Given the description of an element on the screen output the (x, y) to click on. 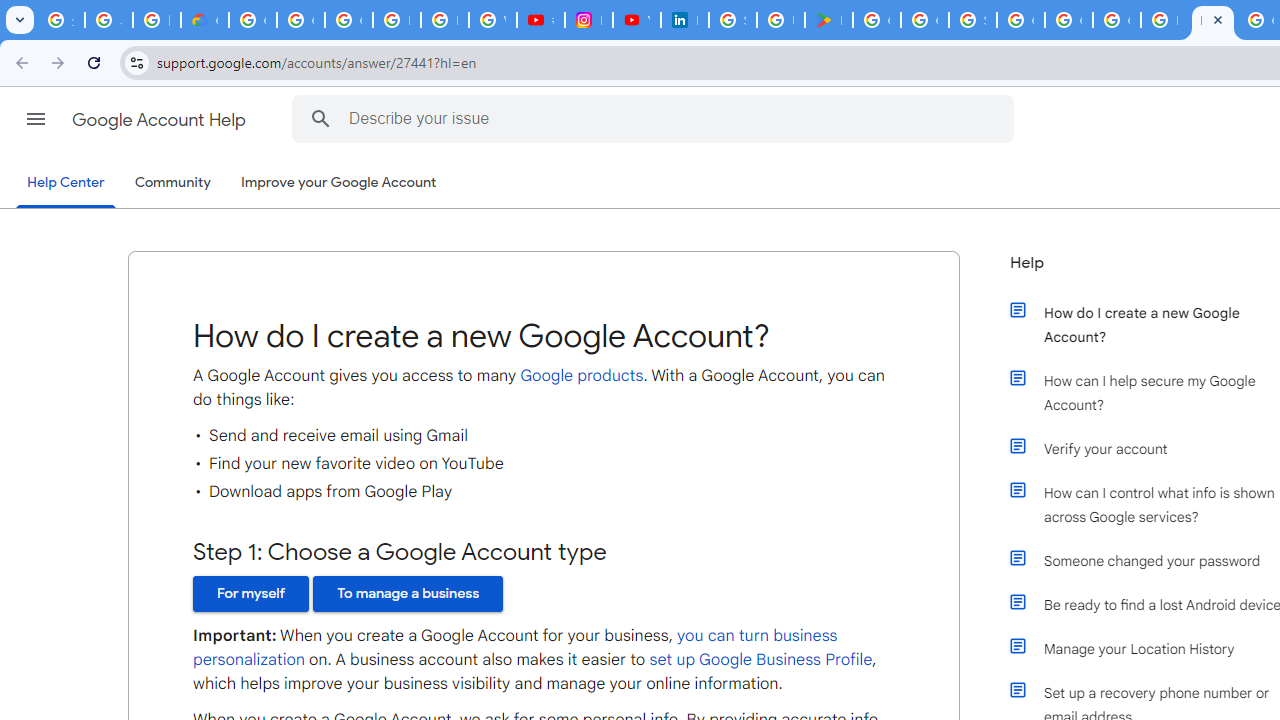
For myself (251, 594)
Main menu (35, 119)
set up Google Business Profile (760, 660)
Privacy Help Center - Policies Help (444, 20)
Google products (581, 375)
Sign in - Google Accounts (972, 20)
How do I create a new Google Account? - Google Account Help (1212, 20)
Last Shelter: Survival - Apps on Google Play (828, 20)
Improve your Google Account (339, 183)
